Given the description of an element on the screen output the (x, y) to click on. 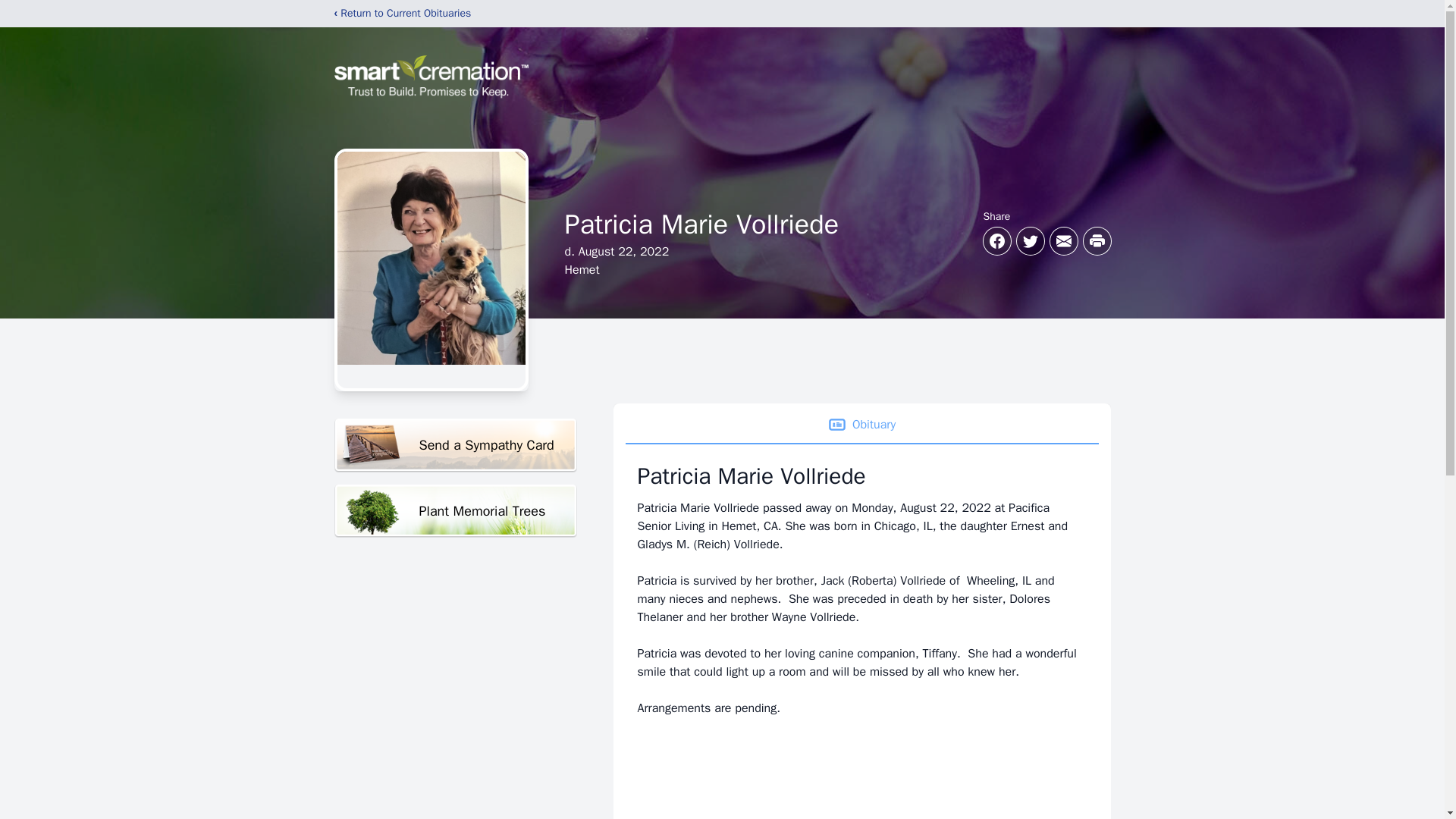
Obituary (860, 425)
Send a Sympathy Card (454, 445)
Plant Memorial Trees (454, 511)
